Given the description of an element on the screen output the (x, y) to click on. 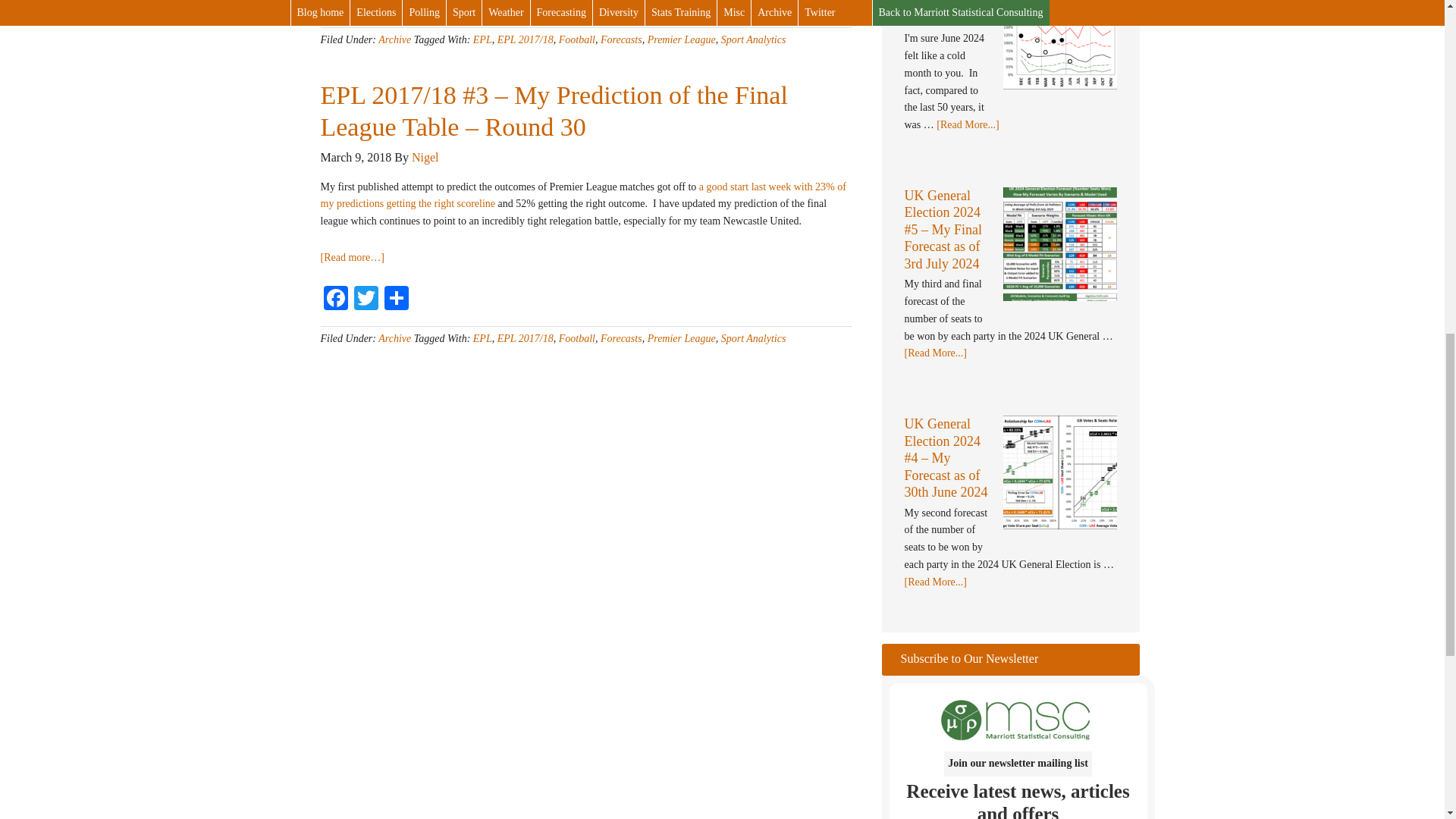
EPL (482, 39)
Forecasts (620, 39)
Twitter (365, 298)
Facebook (335, 7)
Facebook (335, 298)
Football (577, 39)
Facebook (335, 7)
Twitter (365, 7)
Twitter (365, 7)
Premier League (681, 39)
Archive (394, 39)
